Given the description of an element on the screen output the (x, y) to click on. 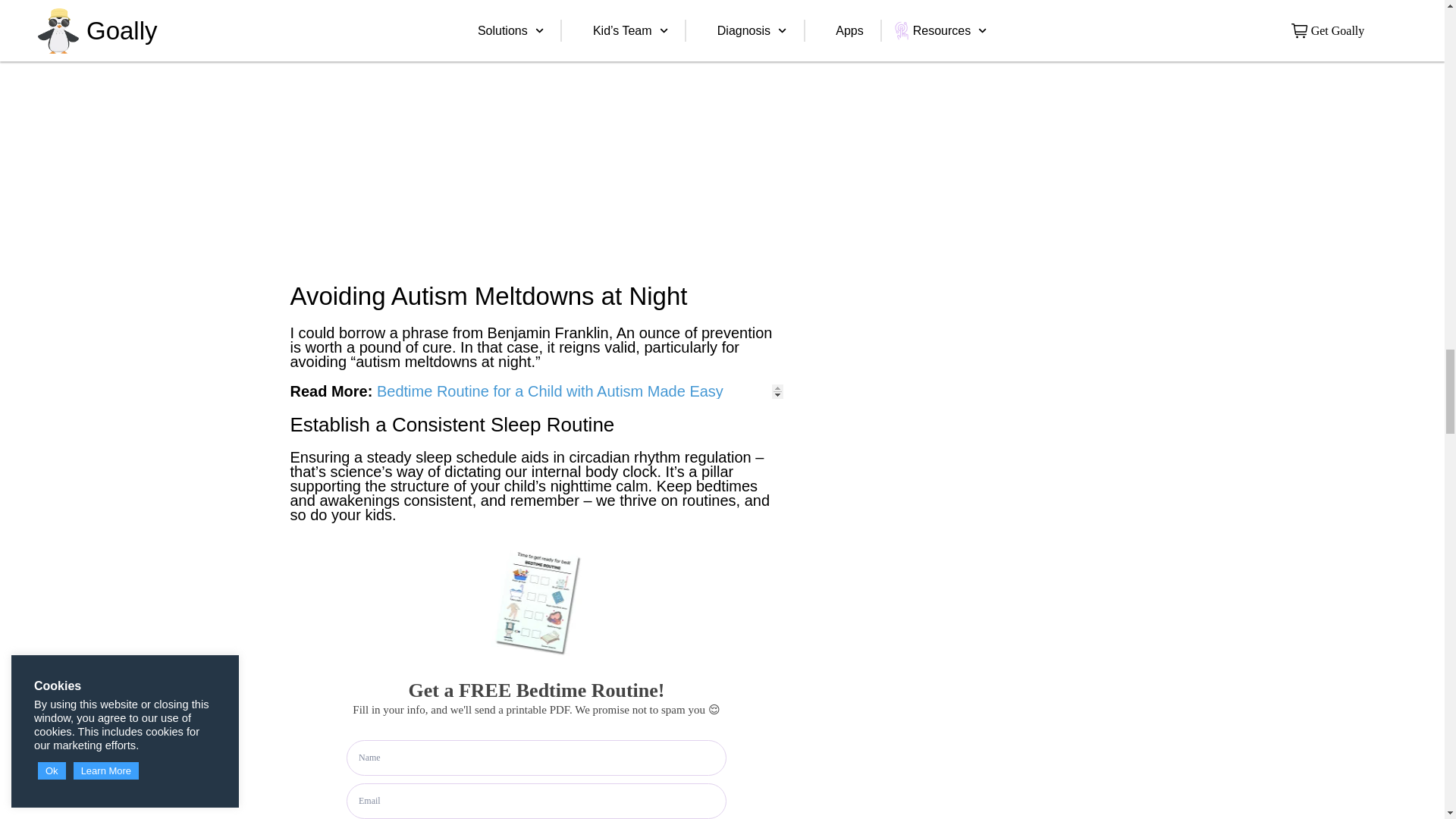
Autism Meltdowns at Night or Bed Time (459, 129)
